Given the description of an element on the screen output the (x, y) to click on. 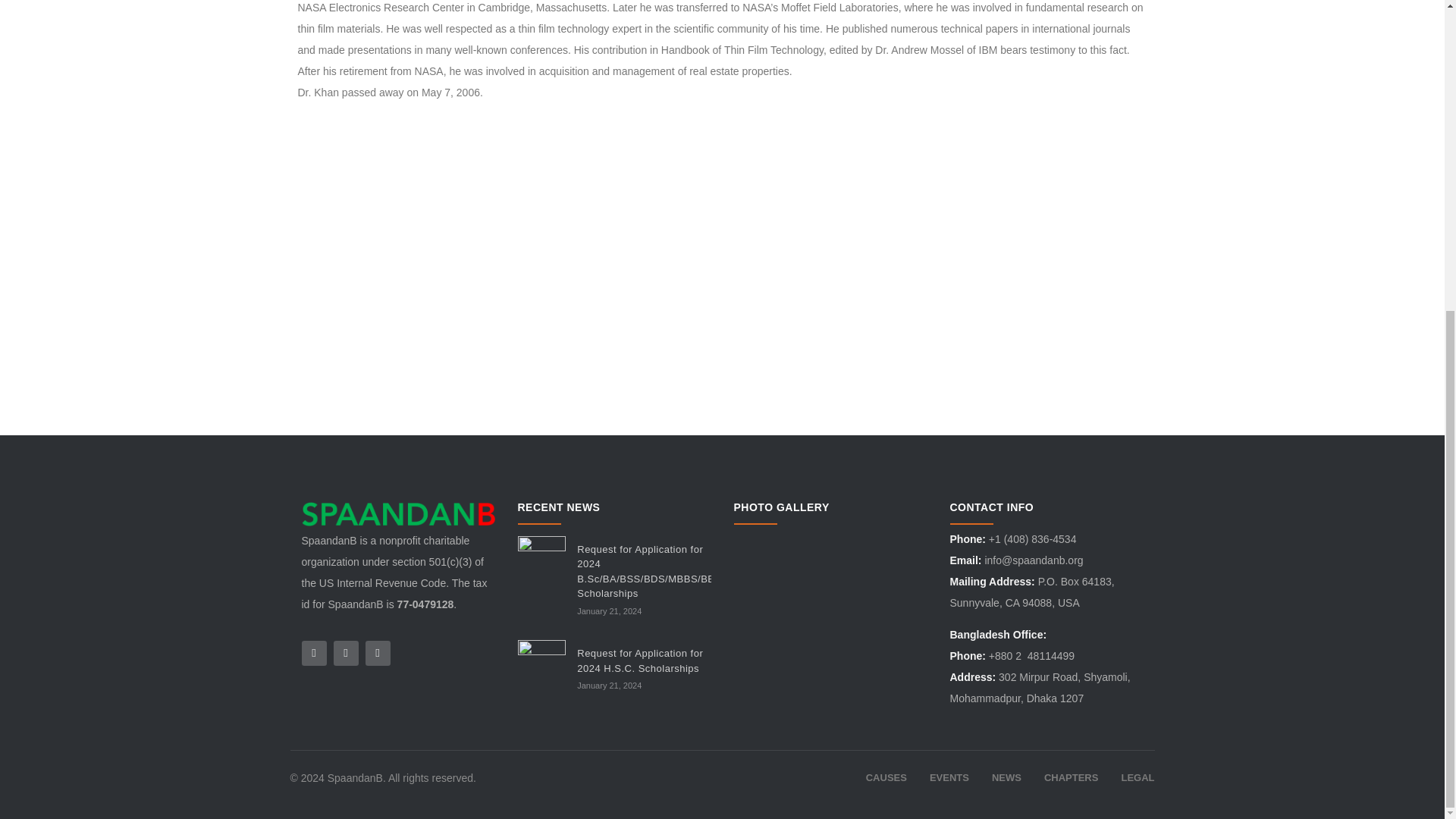
EVENTS (949, 777)
CAUSES (886, 777)
Request for Application for 2024 H.S.C. Scholarships (639, 660)
